Given the description of an element on the screen output the (x, y) to click on. 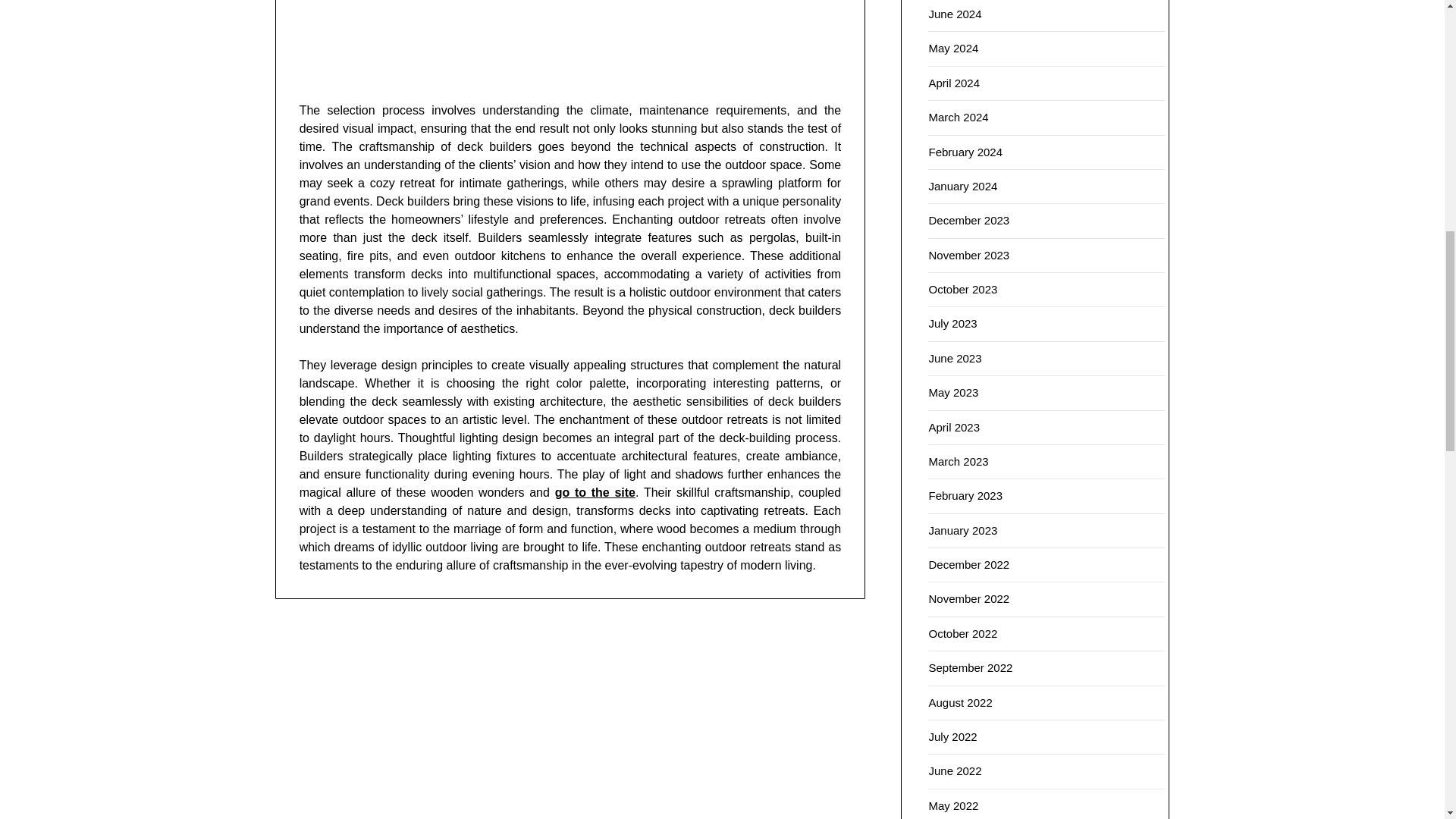
May 2023 (953, 391)
March 2024 (958, 116)
January 2024 (962, 185)
July 2023 (952, 323)
April 2024 (953, 82)
March 2023 (958, 461)
December 2022 (968, 563)
May 2024 (953, 47)
September 2022 (969, 667)
December 2023 (968, 219)
